Given the description of an element on the screen output the (x, y) to click on. 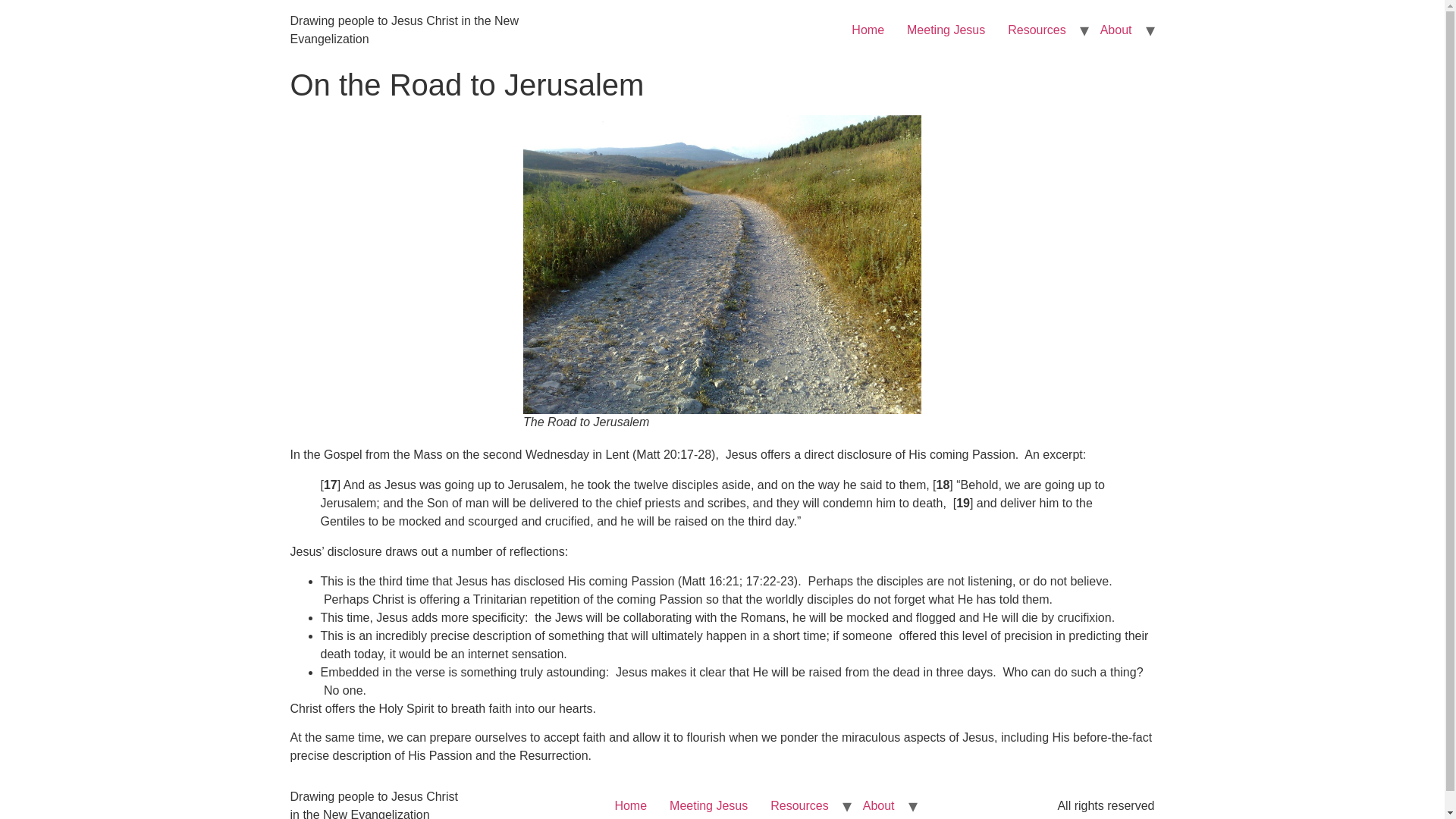
Home (630, 806)
Resources (1036, 30)
Resources (799, 806)
About (878, 806)
Meeting Jesus (945, 30)
The Road to Jerusalem (721, 264)
Home (867, 30)
Meeting Jesus (708, 806)
About (1115, 30)
